Given the description of an element on the screen output the (x, y) to click on. 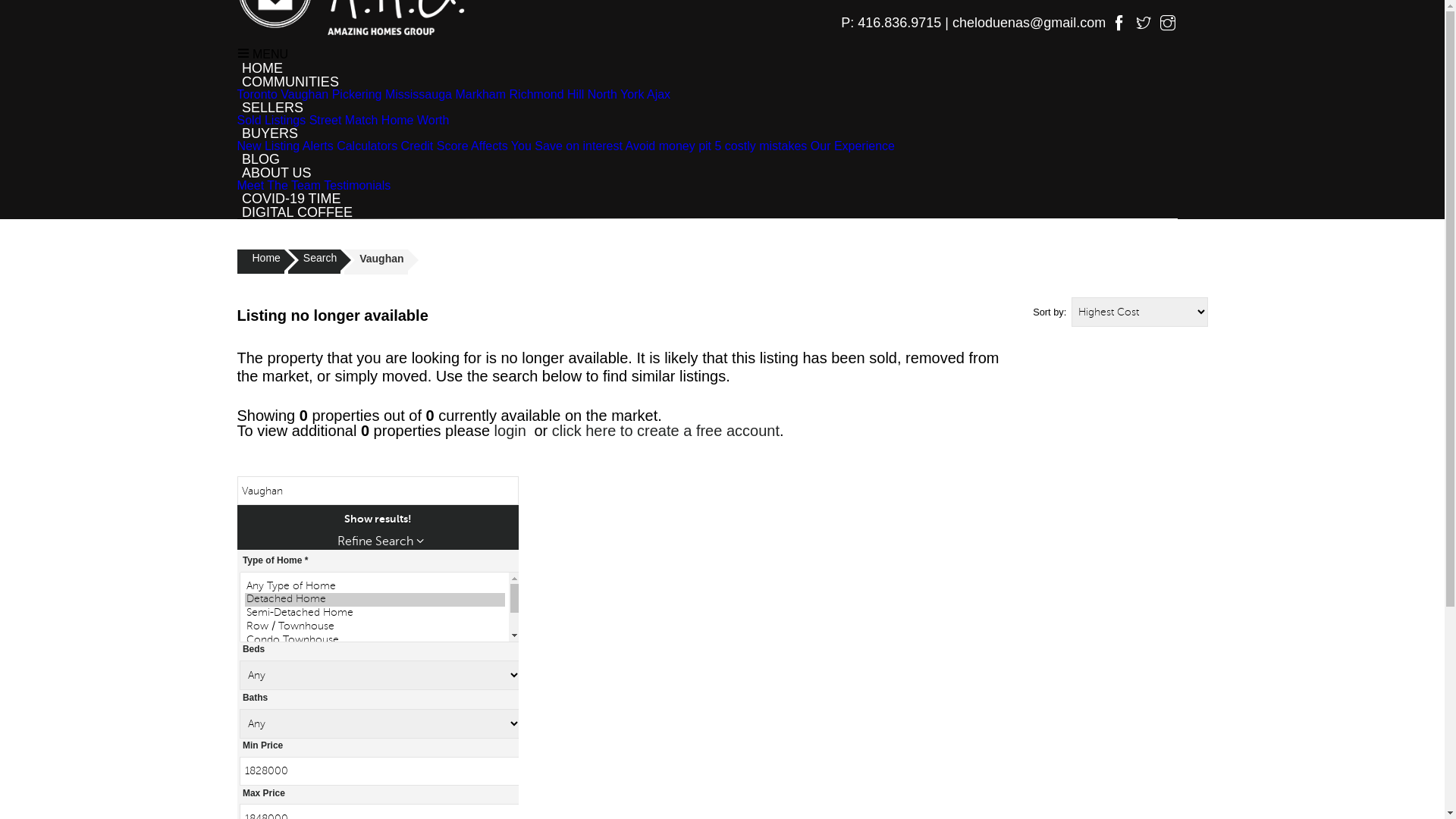
Calculators Element type: text (366, 145)
MENU Element type: text (262, 54)
COMMUNITIES Element type: text (289, 81)
BUYERS Element type: text (269, 133)
COVID-19 TIME Element type: text (290, 198)
Richmond Hill Element type: text (546, 93)
click here to create a free account Element type: text (665, 430)
416.836.9715 Element type: text (899, 22)
Testimonials Element type: text (356, 184)
Search Element type: text (314, 261)
cheloduenas@gmail.com Element type: text (1030, 22)
Ajax Element type: text (658, 93)
Pickering Element type: text (357, 93)
Home Element type: text (259, 261)
DIGITAL COFFEE Element type: text (296, 211)
Vaughan Element type: text (304, 93)
Sold Listings Element type: text (270, 119)
Avoid money pit Element type: text (668, 145)
Home Worth Element type: text (415, 119)
SELLERS Element type: text (271, 107)
login Element type: text (510, 430)
Refine Search Element type: text (380, 540)
Toronto Element type: text (256, 93)
Meet The Team Element type: text (278, 184)
Save on interest Element type: text (578, 145)
BLOG Element type: text (260, 158)
Our Experience Element type: text (852, 145)
HOME Element type: text (261, 67)
Credit Score Affects You Element type: text (466, 145)
New Listing Alerts Element type: text (284, 145)
5 costly mistakes Element type: text (761, 145)
Street Match Element type: text (343, 119)
Show results! Element type: text (376, 518)
North York Element type: text (615, 93)
Mississauga Element type: text (418, 93)
ABOUT US Element type: text (275, 172)
Markham Element type: text (480, 93)
